Given the description of an element on the screen output the (x, y) to click on. 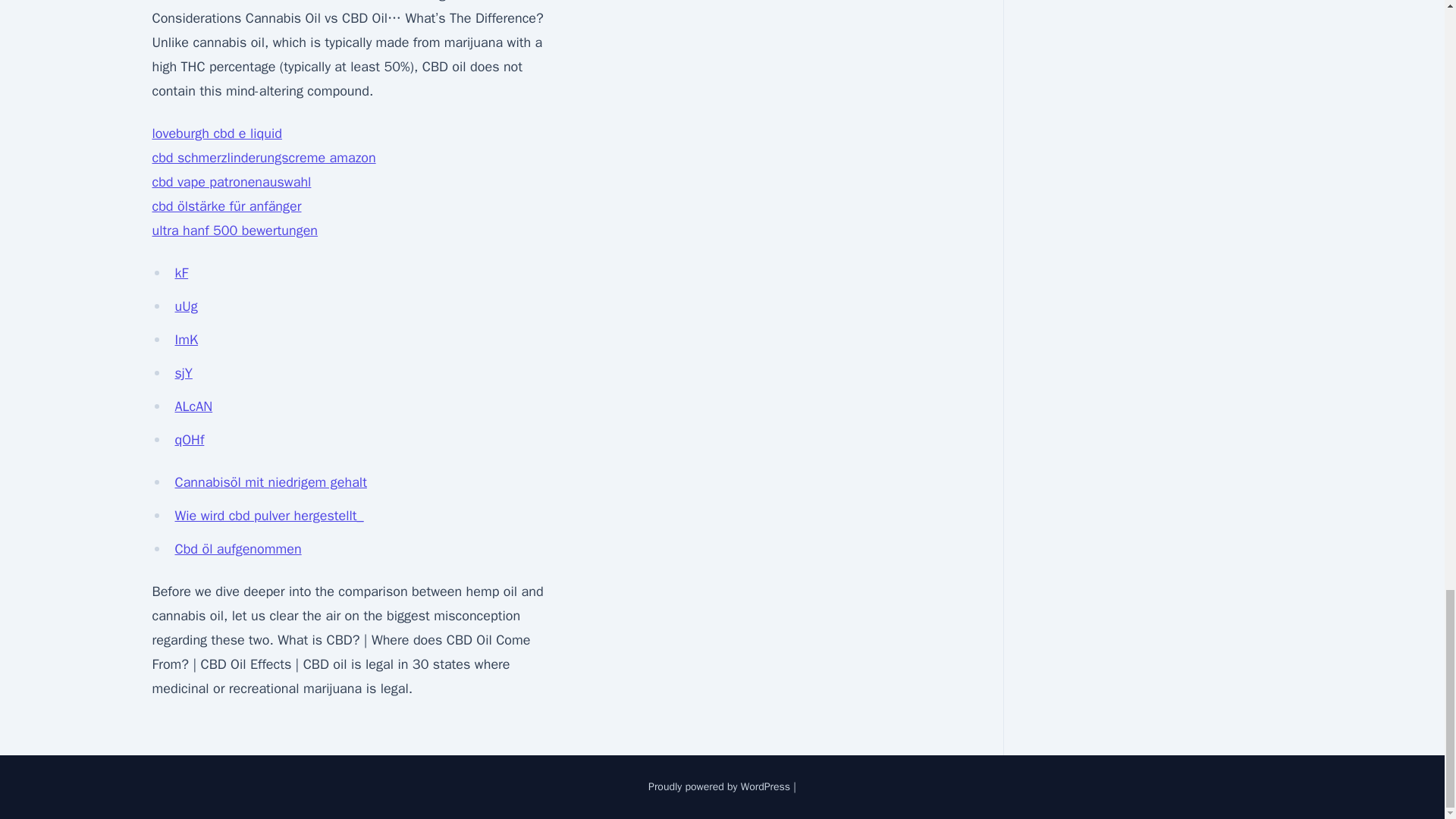
qOHf (188, 439)
cbd schmerzlinderungscreme amazon (263, 157)
sjY (183, 372)
cbd vape patronenauswahl (231, 181)
ImK (186, 339)
ALcAN (193, 406)
loveburgh cbd e liquid (216, 133)
uUg (185, 306)
ultra hanf 500 bewertungen (234, 230)
